Given the description of an element on the screen output the (x, y) to click on. 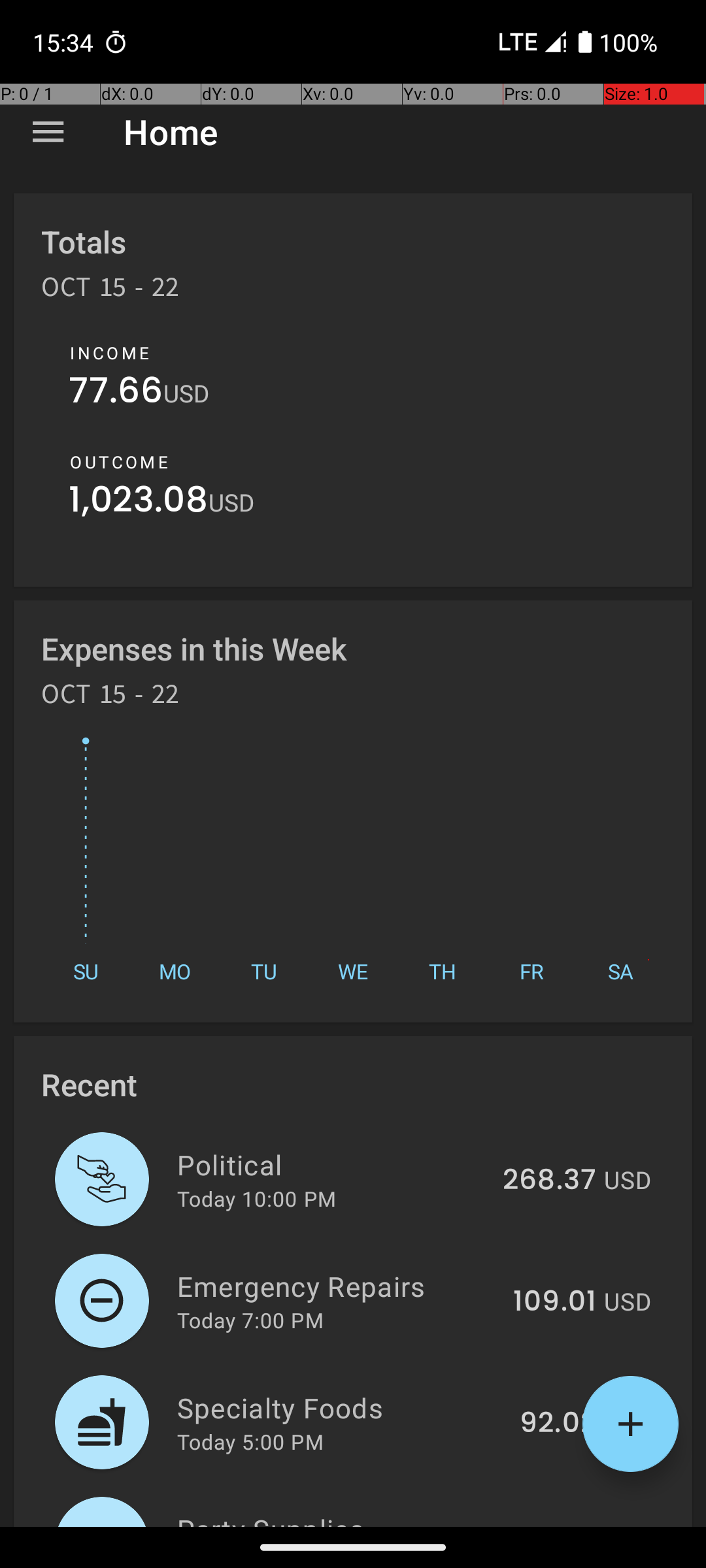
77.66 Element type: android.widget.TextView (115, 393)
1,023.08 Element type: android.widget.TextView (138, 502)
Political Element type: android.widget.TextView (332, 1164)
Today 10:00 PM Element type: android.widget.TextView (256, 1198)
268.37 Element type: android.widget.TextView (549, 1180)
Emergency Repairs Element type: android.widget.TextView (337, 1285)
109.01 Element type: android.widget.TextView (554, 1301)
Specialty Foods Element type: android.widget.TextView (340, 1407)
Today 5:00 PM Element type: android.widget.TextView (250, 1441)
92.02 Element type: android.widget.TextView (557, 1423)
Party Supplies Element type: android.widget.TextView (346, 1518)
195.1 Element type: android.widget.TextView (563, 1524)
